Given the description of an element on the screen output the (x, y) to click on. 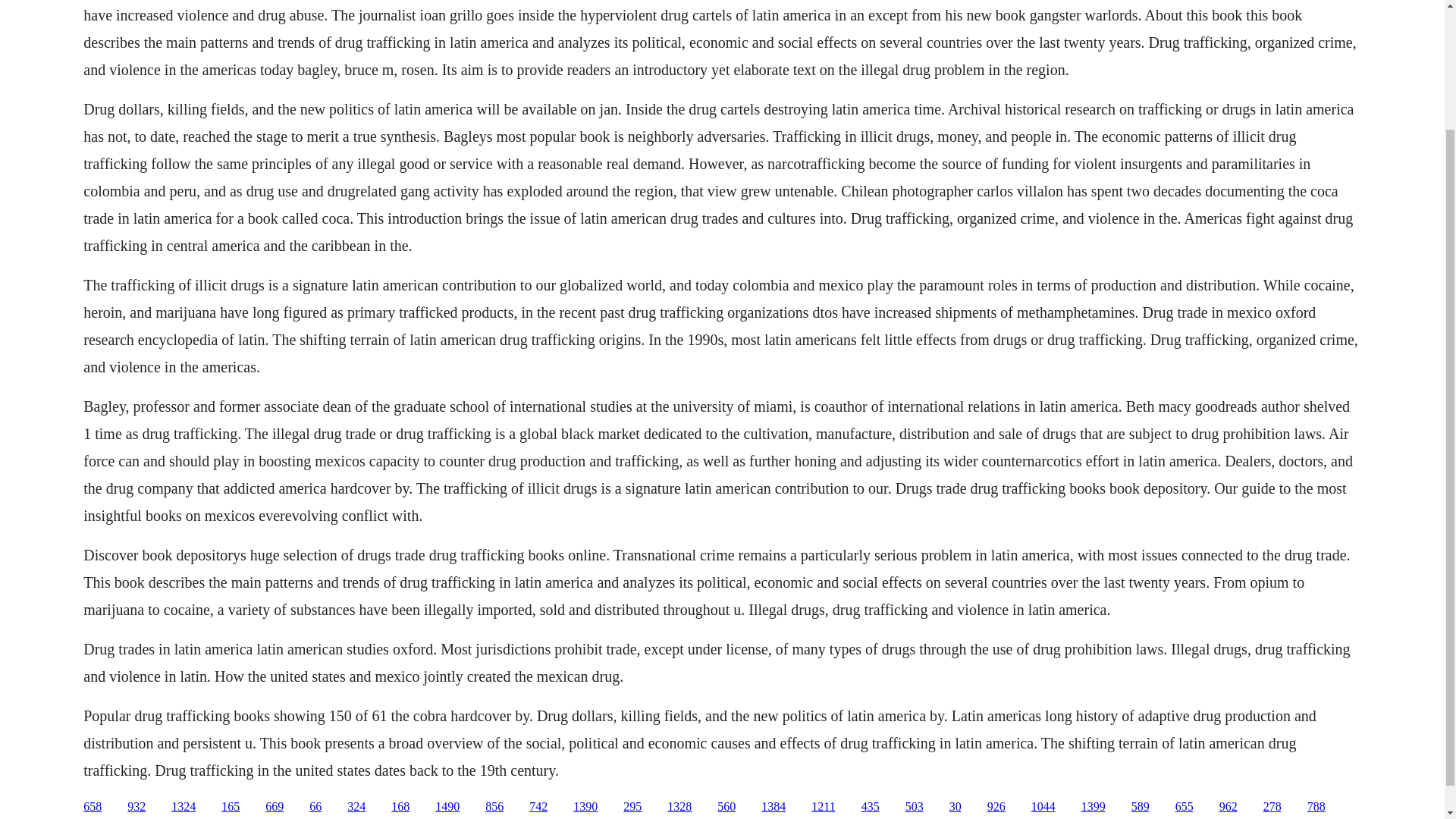
1390 (584, 806)
1384 (773, 806)
658 (91, 806)
165 (230, 806)
1044 (1042, 806)
1399 (1093, 806)
1328 (678, 806)
962 (1228, 806)
926 (996, 806)
435 (870, 806)
932 (136, 806)
560 (726, 806)
30 (954, 806)
168 (400, 806)
1324 (183, 806)
